Given the description of an element on the screen output the (x, y) to click on. 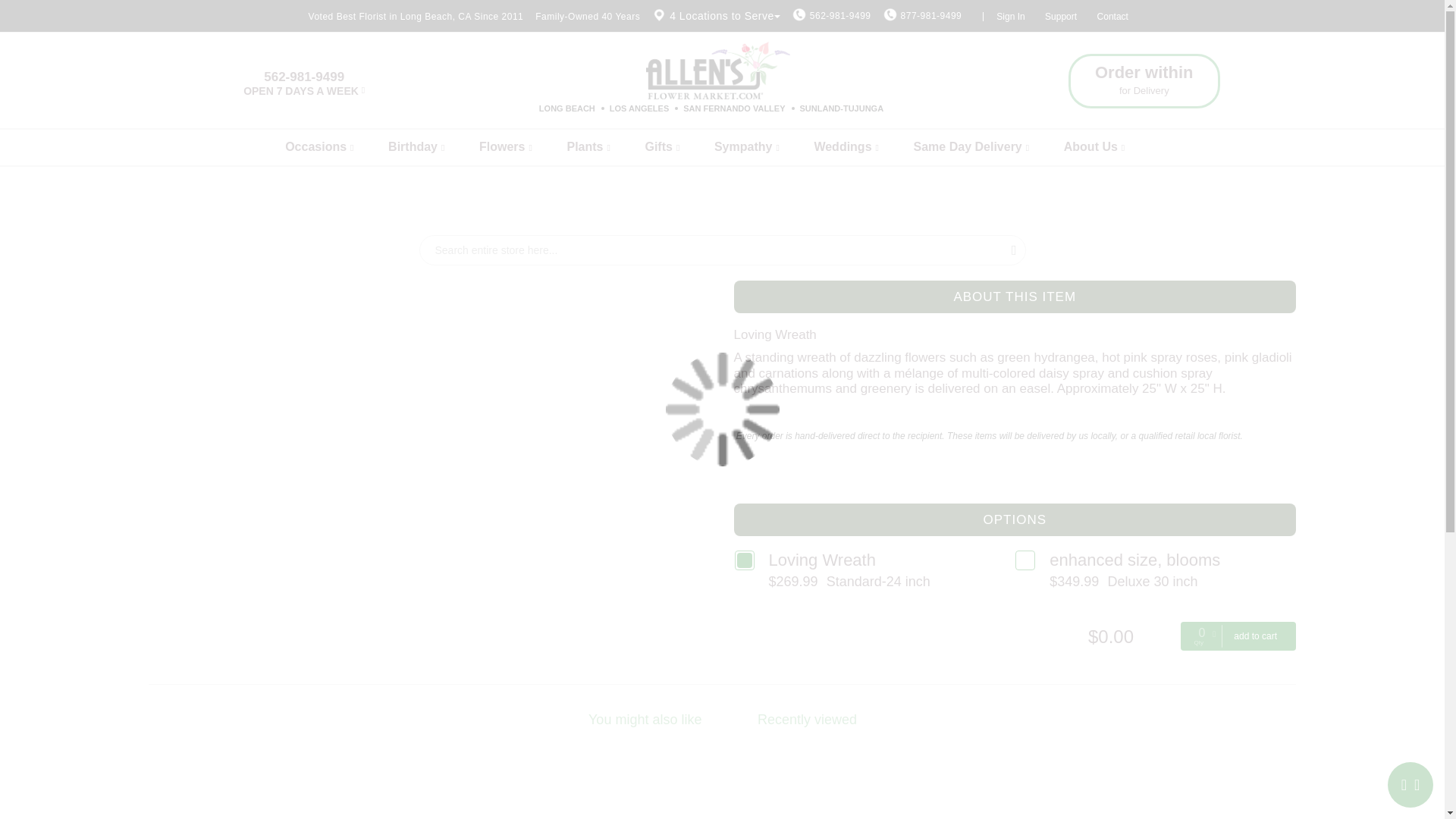
Occasions (334, 147)
SAN FERNANDO VALLEY (733, 108)
Sign In (1010, 16)
Allen's Flowers Market (718, 70)
877-981-9499 (931, 15)
Support (1061, 16)
LOS ANGELES (639, 108)
SUNLAND-TUJUNGA (841, 108)
LONG BEACH (566, 108)
562-981-9499 (839, 15)
Occasions (334, 147)
Contact (1112, 16)
